Given the description of an element on the screen output the (x, y) to click on. 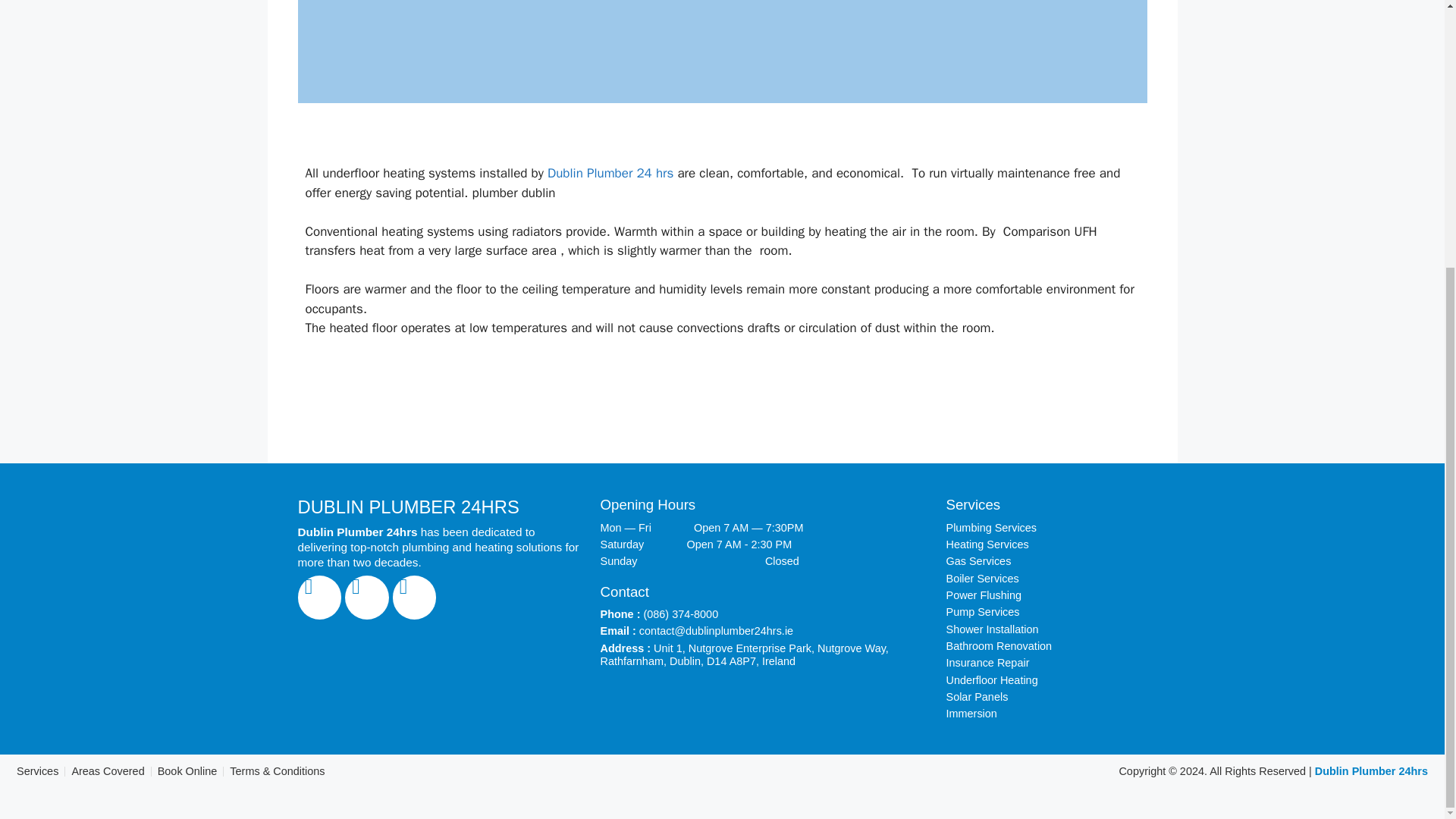
Boiler Services (1044, 578)
Plumbing Services (1044, 527)
Heating Services (1044, 544)
Dublin Plumber 24 hrs (609, 172)
Gas Services (1044, 561)
